Given the description of an element on the screen output the (x, y) to click on. 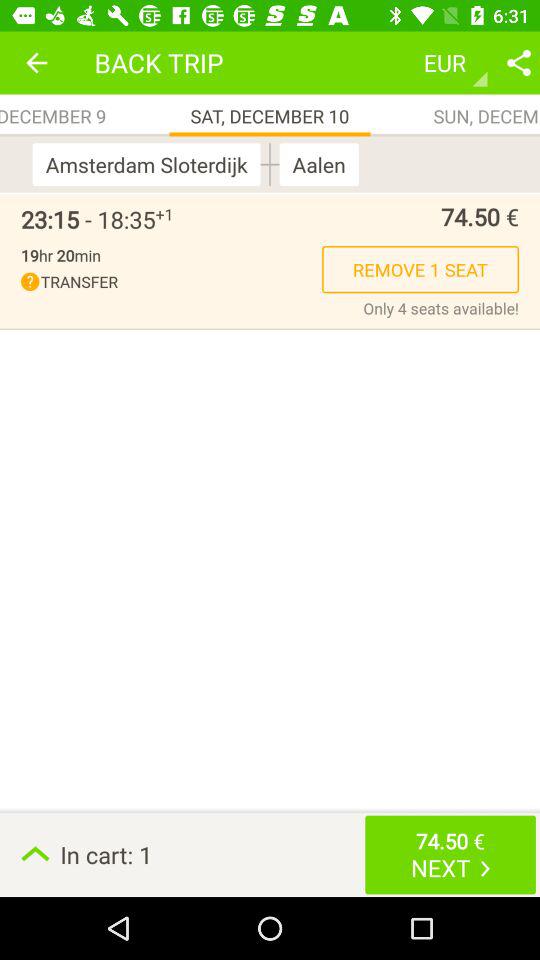
turn on item next to transfer item (441, 308)
